Given the description of an element on the screen output the (x, y) to click on. 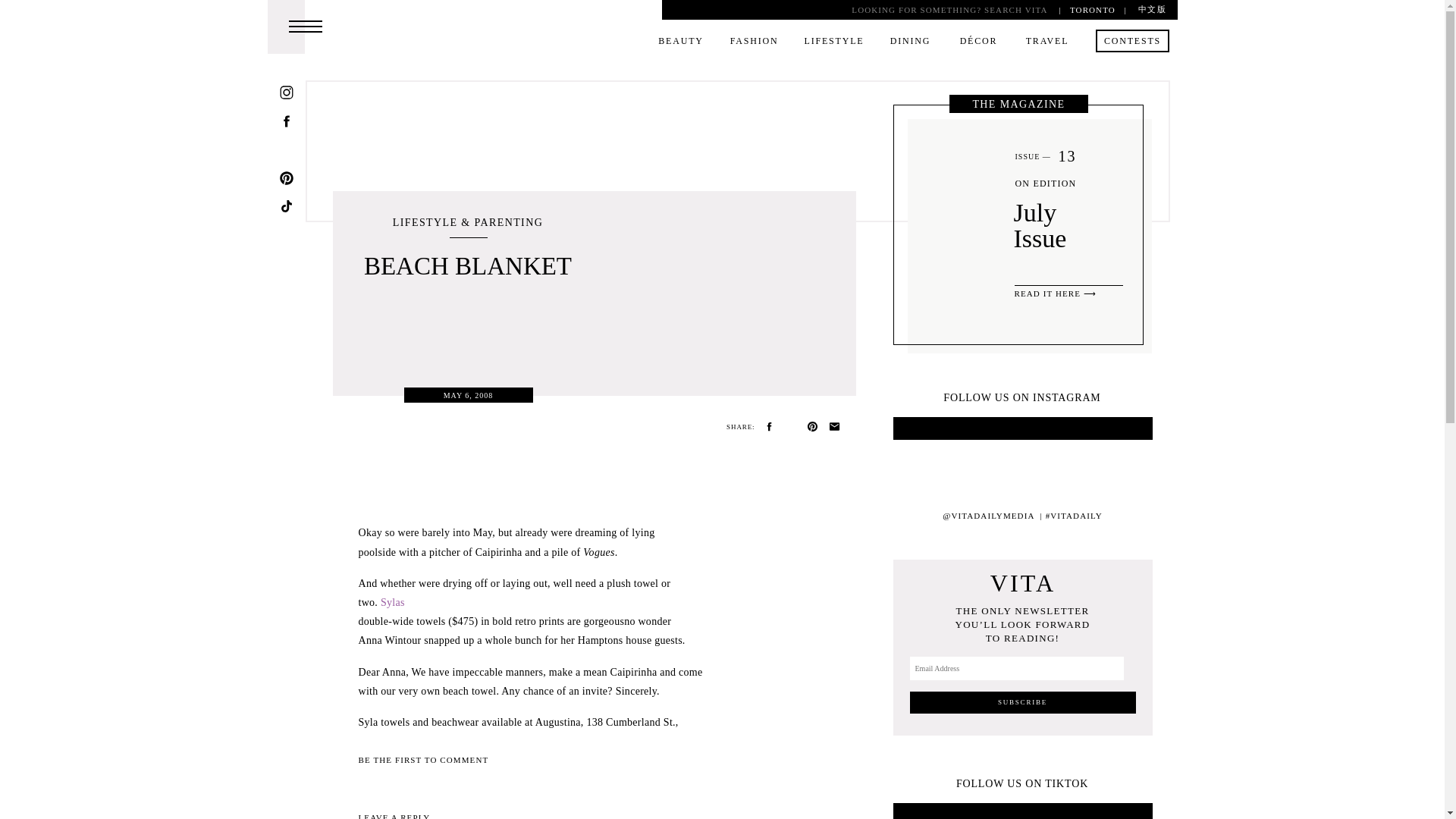
DINING (910, 43)
TRAVEL (1046, 43)
www.augustinaboutiques.com (533, 740)
TORONTO (1092, 9)
CONTESTS (1131, 43)
BEAUTY (681, 43)
LIFESTYLE (833, 43)
Subscribe (1022, 702)
BE THE FIRST TO COMMENT (422, 759)
FASHION (754, 43)
Subscribe (1022, 702)
Sylas (392, 602)
